Given the description of an element on the screen output the (x, y) to click on. 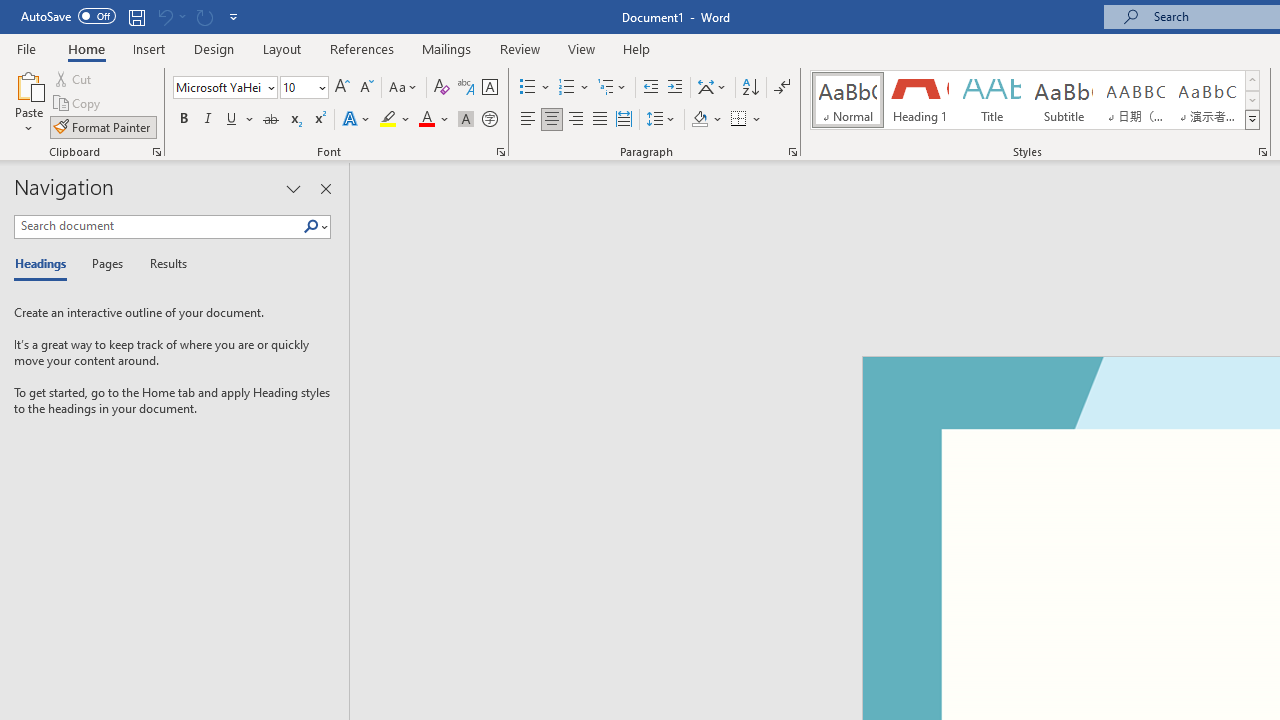
Numbering (566, 87)
Paste (28, 102)
Underline (239, 119)
